Given the description of an element on the screen output the (x, y) to click on. 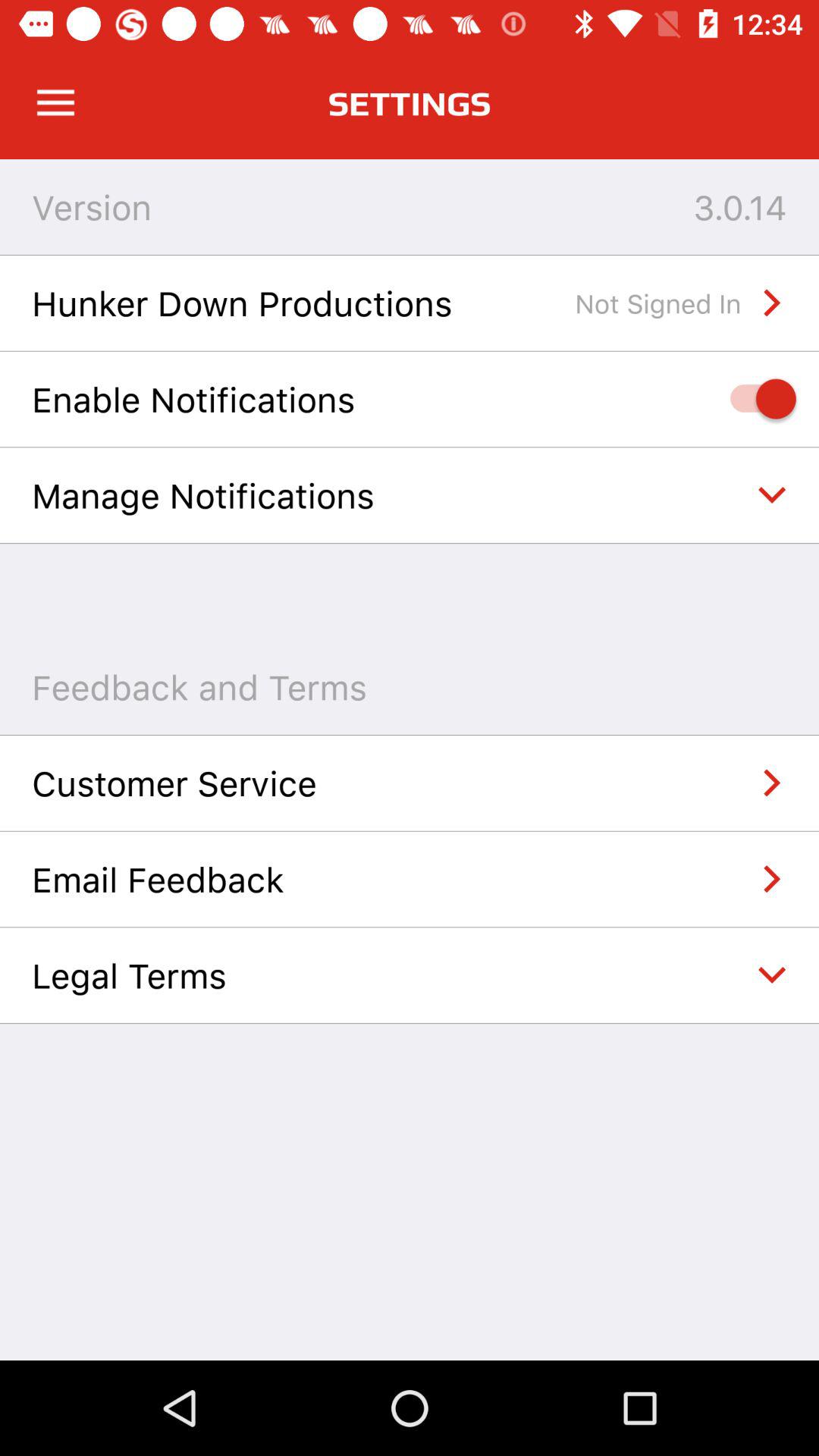
launch icon below hunker down productions item (755, 398)
